Given the description of an element on the screen output the (x, y) to click on. 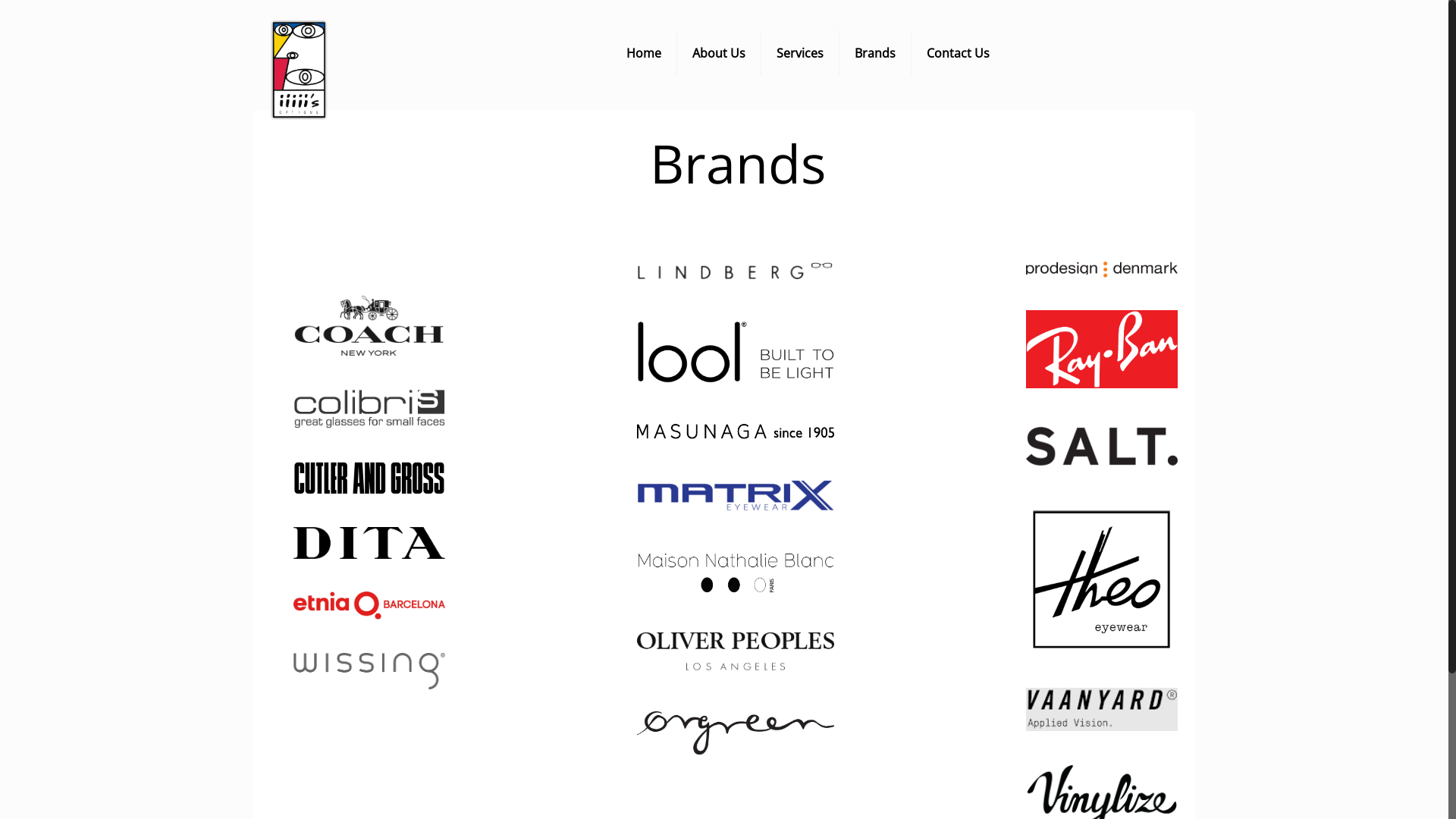
About Us Element type: text (719, 52)
Home Element type: text (644, 52)
Contact Us Element type: text (957, 52)
Brands Element type: text (875, 52)
iiiii's Optique Optometrist Newtown Sydney Element type: hover (315, 69)
Services Element type: text (800, 52)
